Given the description of an element on the screen output the (x, y) to click on. 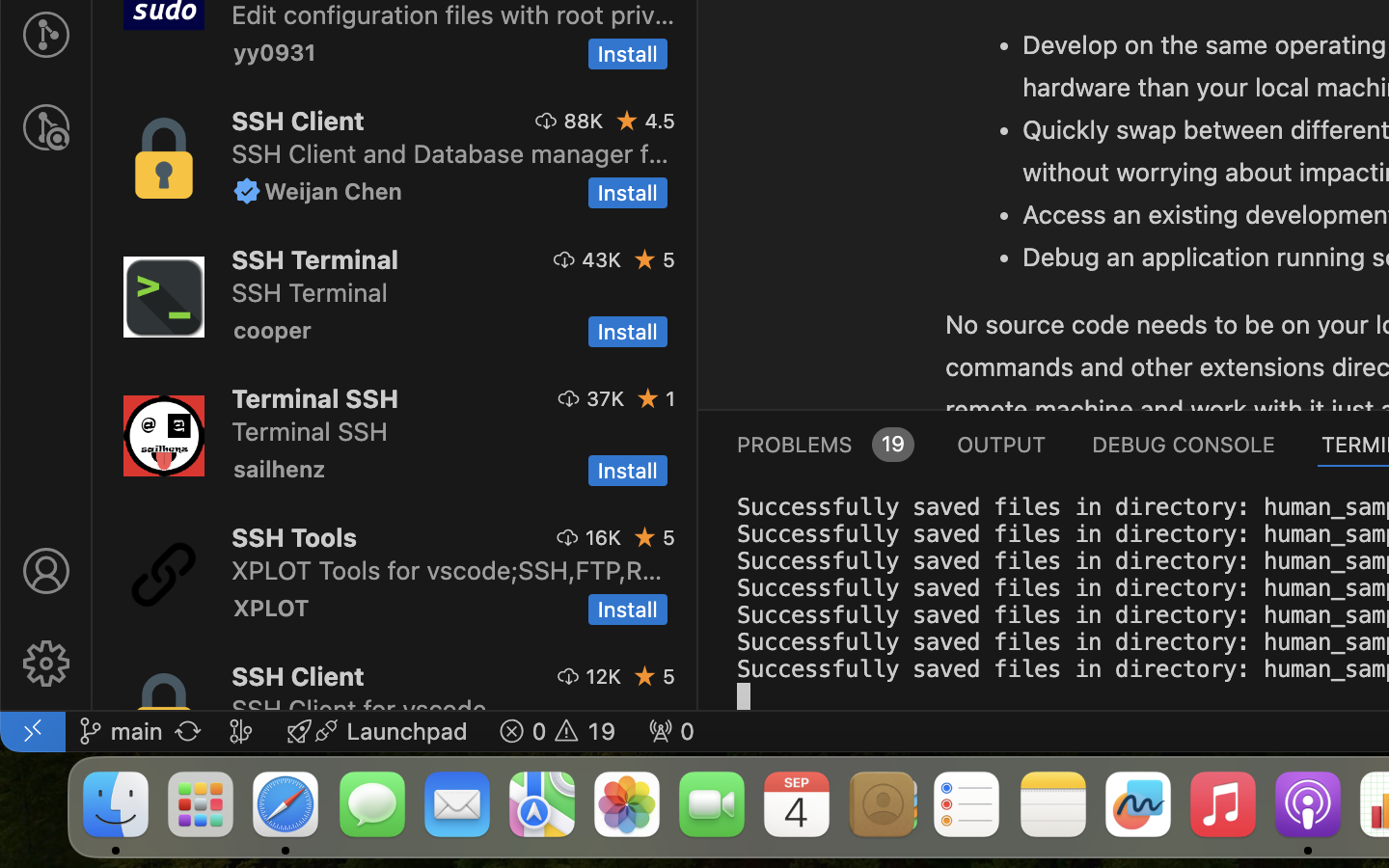
 Element type: AXStaticText (46, 570)
